Given the description of an element on the screen output the (x, y) to click on. 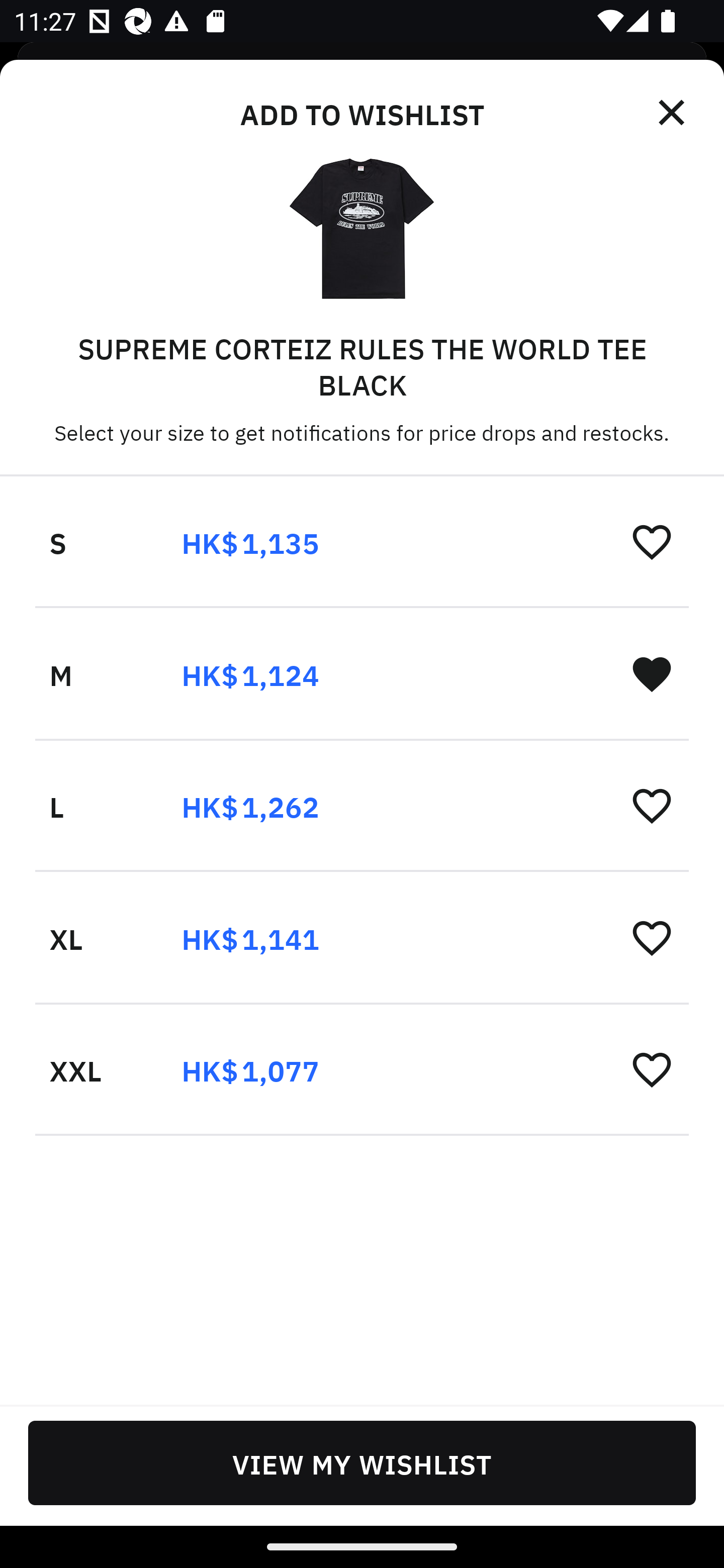
 (672, 112)
󰋕 (651, 541)
󰋑 (651, 673)
󰋕 (651, 804)
󰋕 (651, 936)
󰋕 (651, 1068)
VIEW MY WISHLIST (361, 1462)
